Given the description of an element on the screen output the (x, y) to click on. 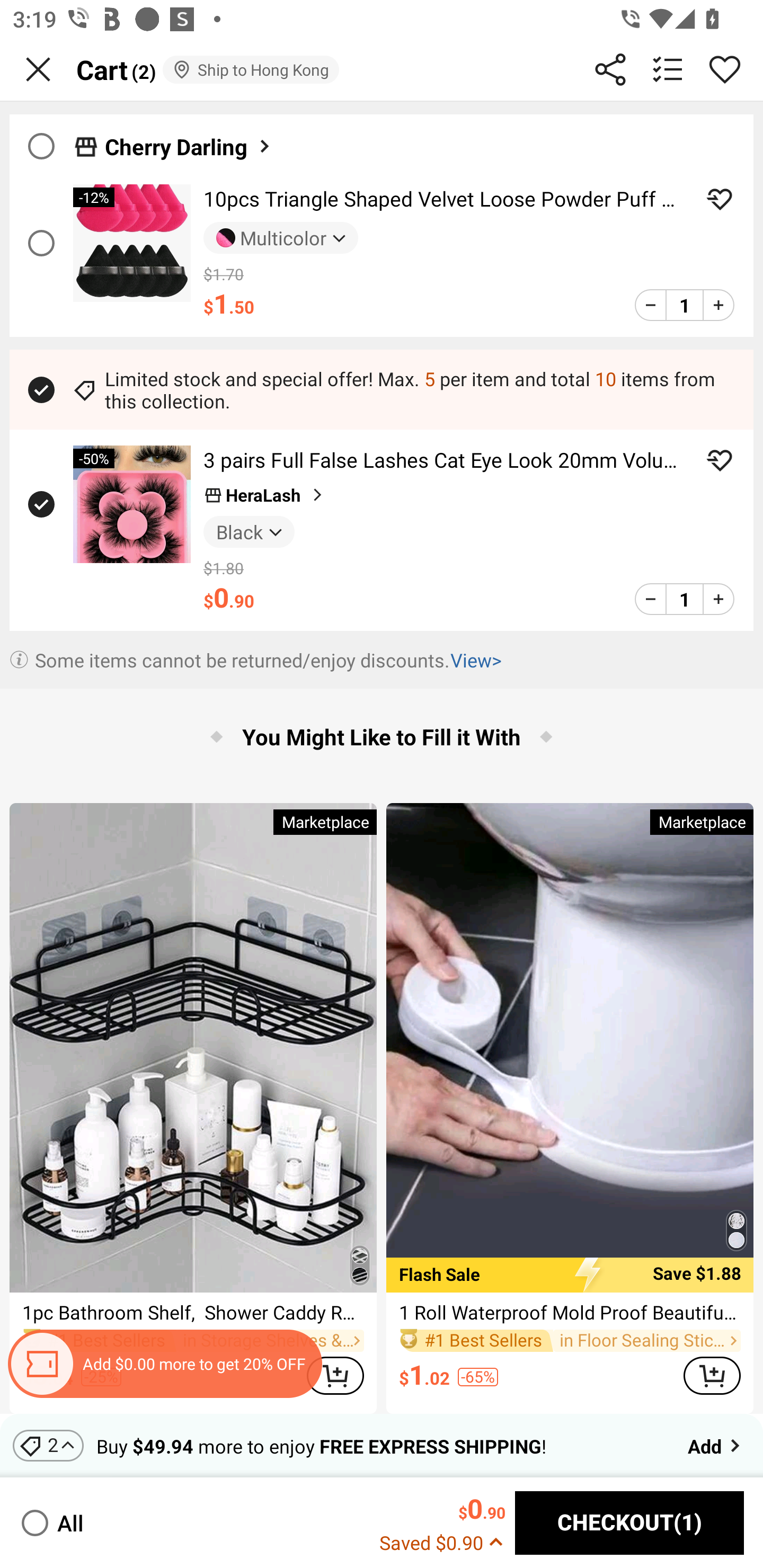
BACK (38, 68)
Wishlist (724, 68)
Share (610, 68)
batch delete (667, 68)
Ship to Hong Kong (250, 68)
Cherry Darling (381, 140)
Cherry Darling (189, 146)
ADD TO WISHLIST (719, 199)
 Multicolor (280, 238)
product quantity minus 1 (650, 304)
1 edit product quantity (684, 304)
product quantity add 1 (718, 304)
ADD TO WISHLIST (719, 460)
HeraLash (264, 494)
Black (248, 531)
product quantity minus 1 (650, 598)
1 edit product quantity (684, 598)
product quantity add 1 (718, 598)
#1 Best Sellers in Floor Sealing Sticker (569, 1340)
Coupon Alert Add $0.00 more to get 20% OFF (164, 1363)
ADD TO CART (334, 1375)
ADD TO CART (711, 1375)
2 (48, 1445)
Add (715, 1445)
CHECKOUT(1) (629, 1523)
All (51, 1522)
